Given the description of an element on the screen output the (x, y) to click on. 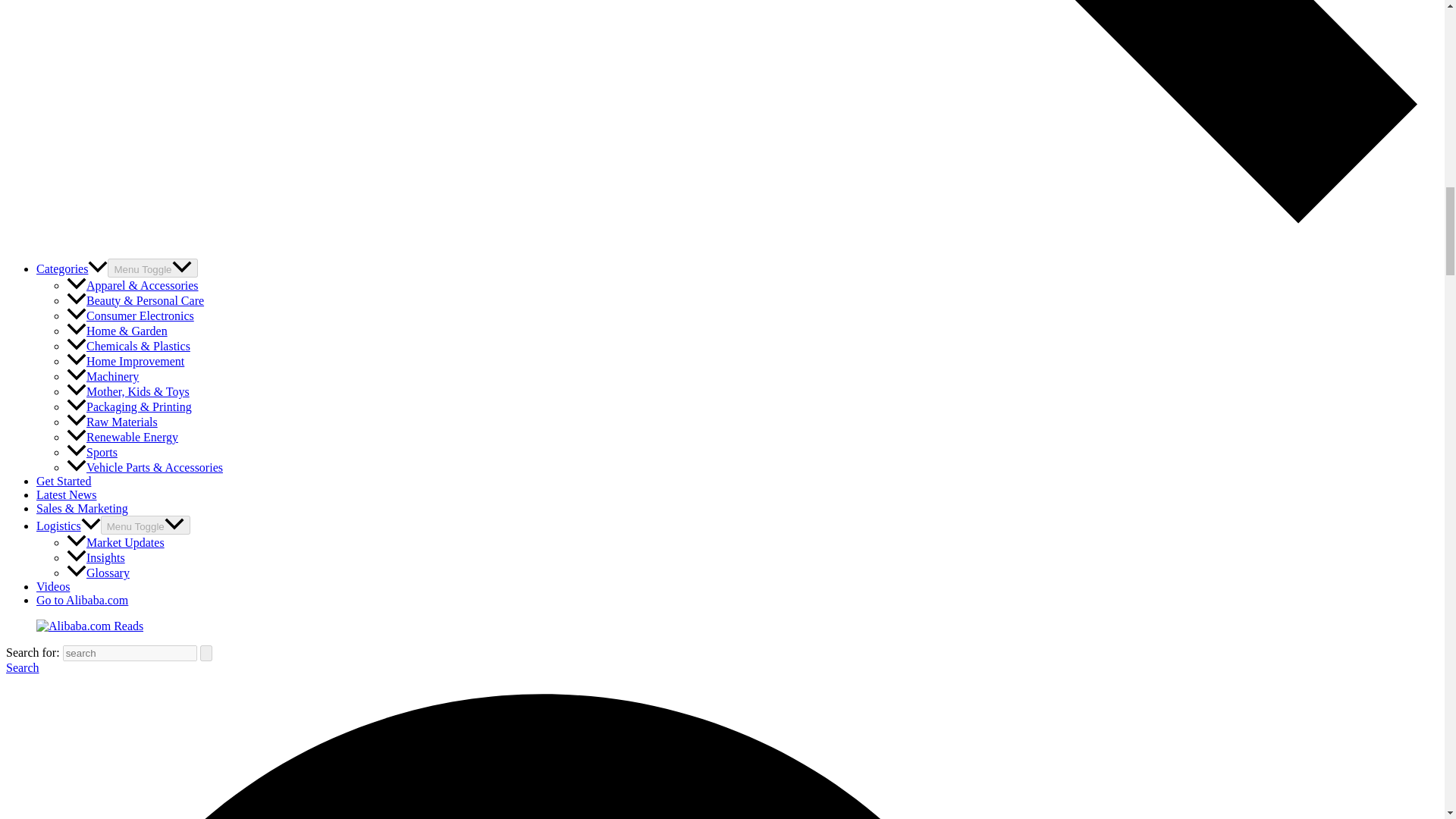
Categories (71, 268)
Menu Toggle (151, 267)
Home Improvement (125, 360)
Consumer Electronics (129, 315)
Machinery (102, 376)
